Given the description of an element on the screen output the (x, y) to click on. 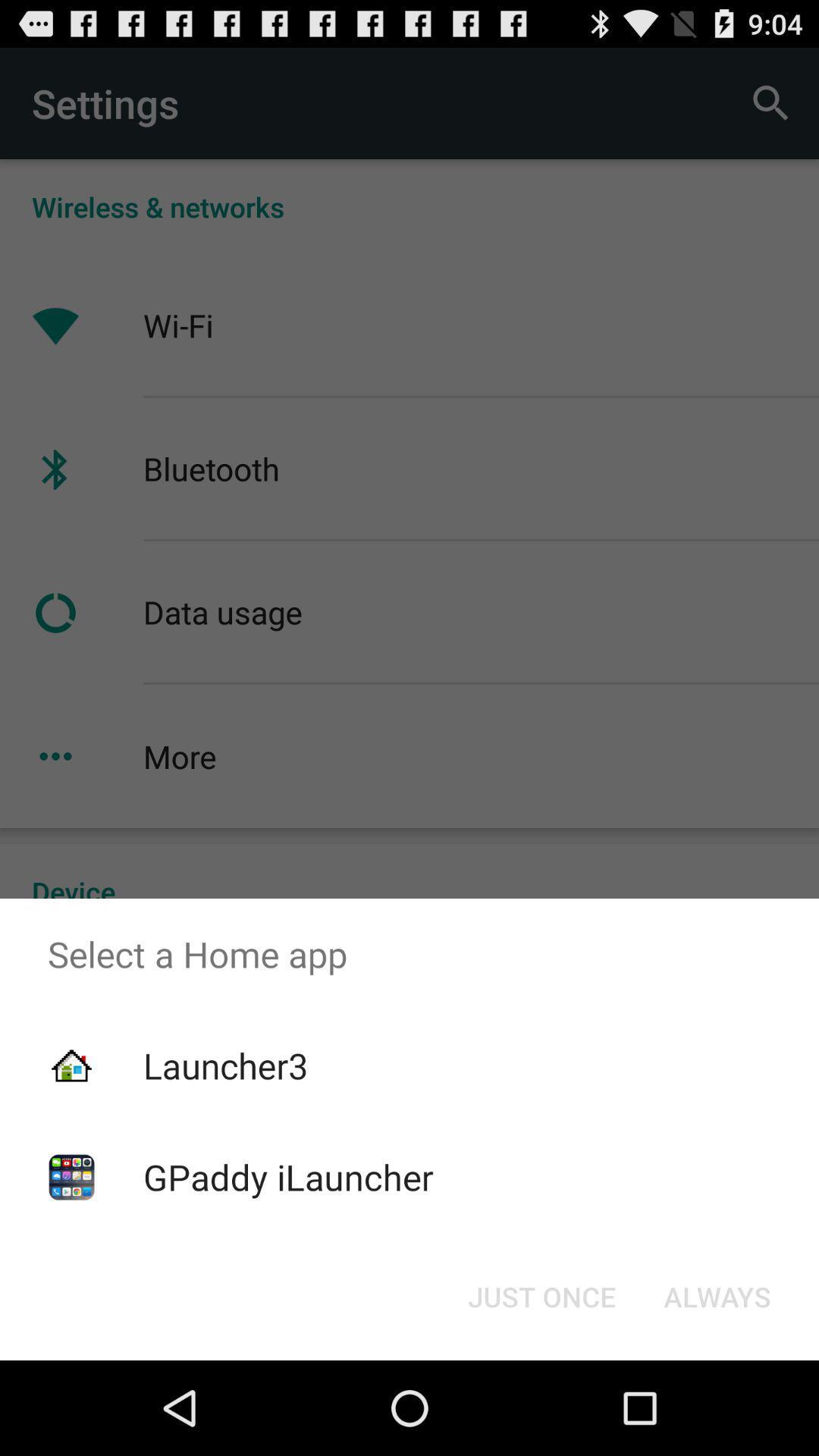
choose gpaddy ilauncher app (288, 1176)
